Given the description of an element on the screen output the (x, y) to click on. 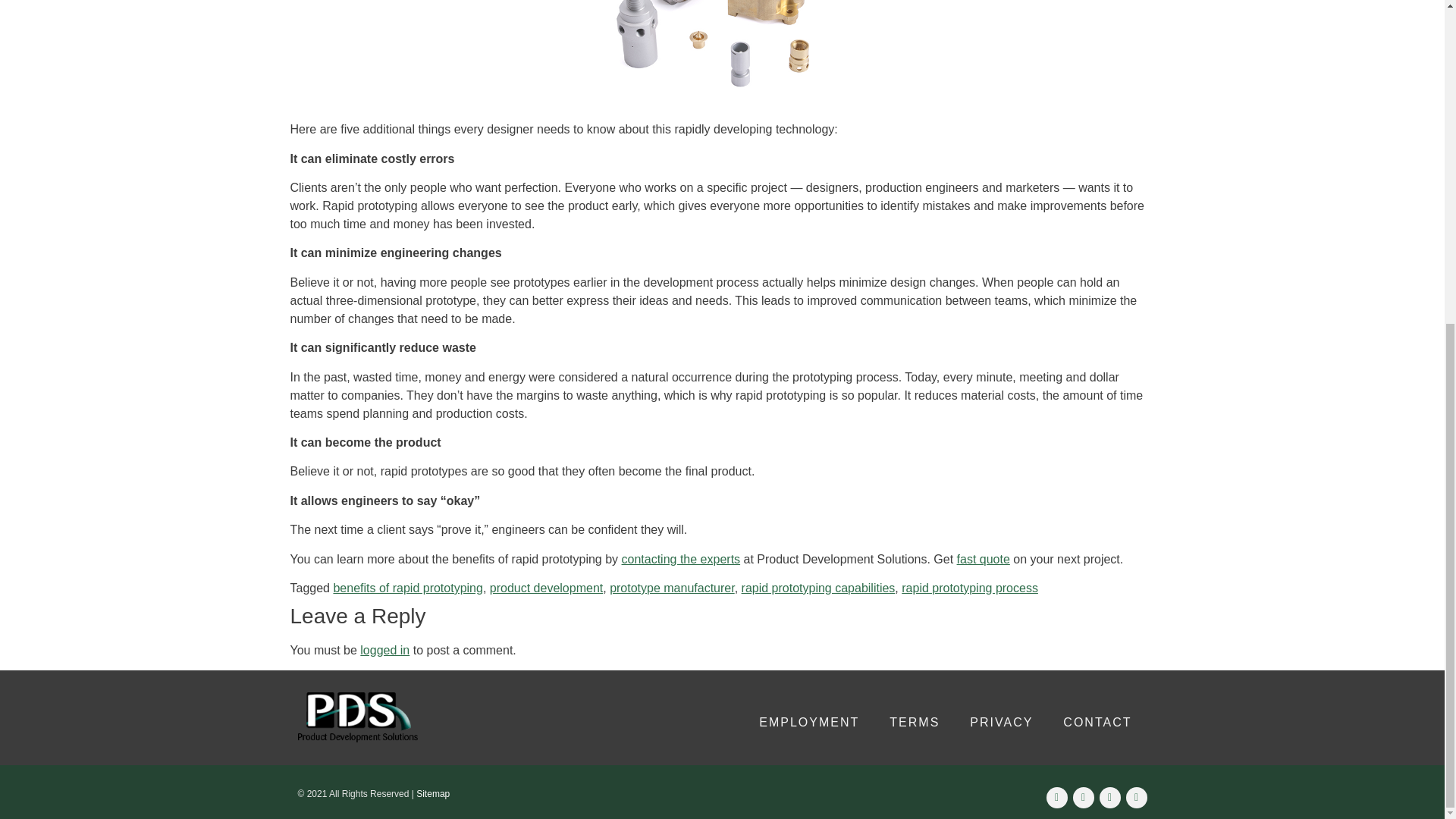
prototype manufacturer (672, 587)
contacting the experts (681, 558)
product development (545, 587)
rapid prototyping capabilities (818, 587)
fast quote (983, 558)
benefits of rapid prototyping (407, 587)
